Given the description of an element on the screen output the (x, y) to click on. 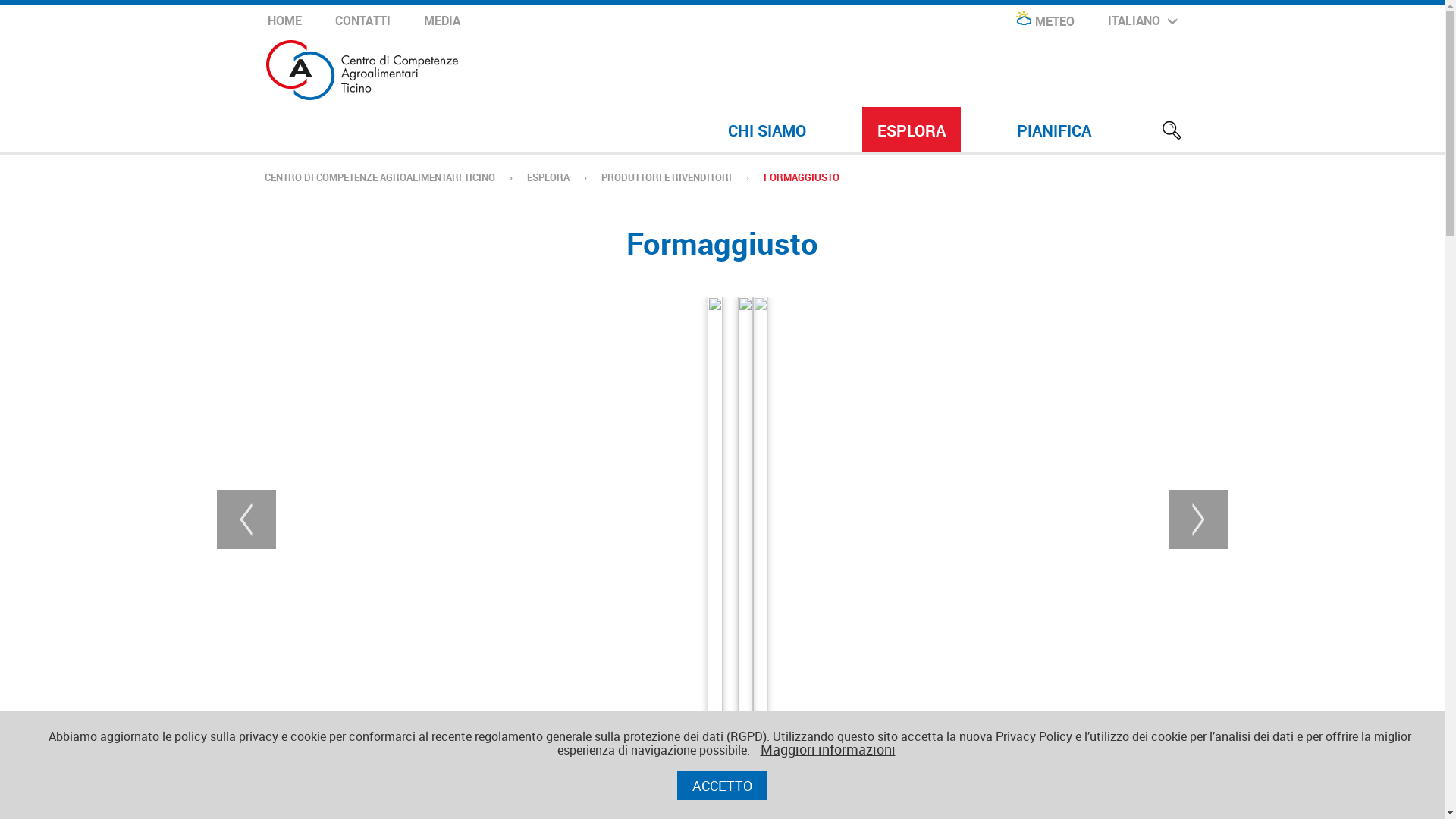
ESPLORA Element type: text (547, 177)
ESPLORA Element type: text (910, 130)
next Element type: text (1197, 519)
CONTATTI Element type: text (362, 20)
HOME Element type: text (283, 20)
PIANIFICA Element type: text (1053, 130)
PRODUTTORI E RIVENDITORI Element type: text (665, 177)
  Element type: text (1170, 130)
Previous Element type: text (246, 519)
ACCETTO Element type: text (722, 785)
CHI SIAMO Element type: text (767, 130)
ITALIANO Element type: text (1141, 20)
METEO Element type: text (1042, 20)
MEDIA Element type: text (441, 20)
CENTRO DI COMPETENZE AGROALIMENTARI TICINO Element type: text (378, 177)
Maggiori informazioni Element type: text (826, 749)
